Given the description of an element on the screen output the (x, y) to click on. 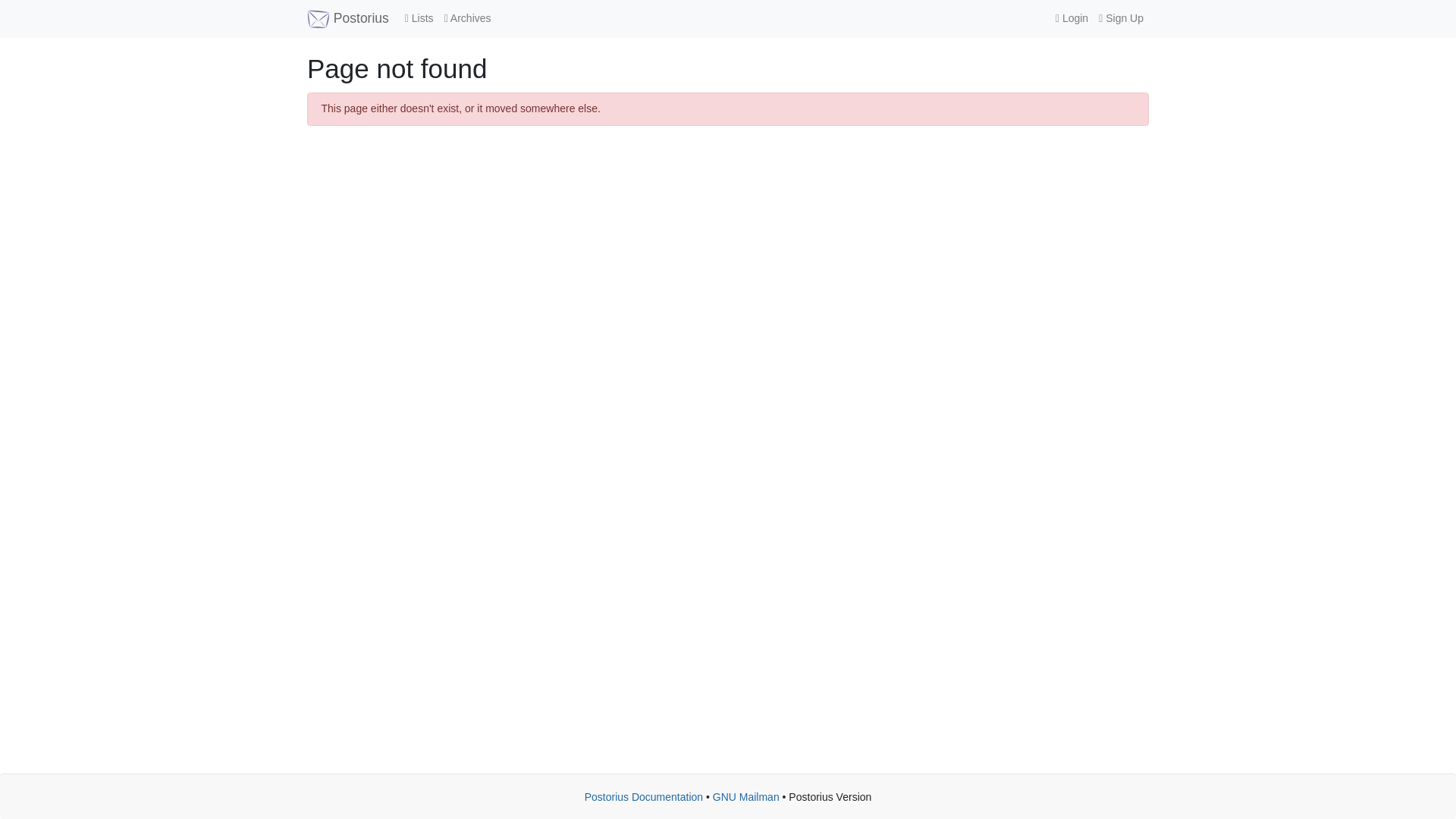
Archives (467, 17)
Lists (418, 17)
Login (1071, 17)
Sign Up (1120, 17)
Postorius (347, 18)
